Given the description of an element on the screen output the (x, y) to click on. 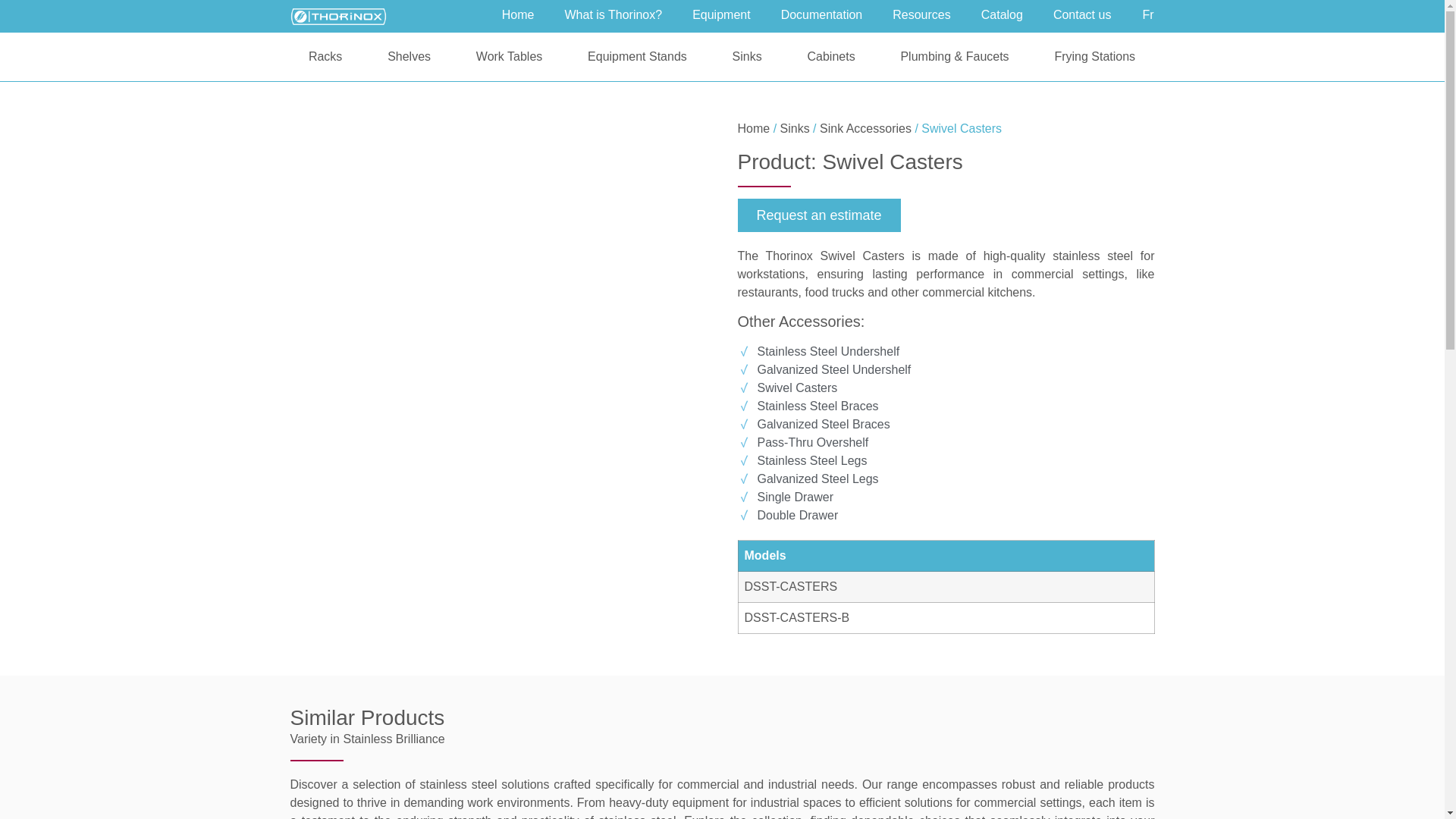
Cabinets (832, 56)
Work Tables (508, 56)
Equipment (721, 15)
Shelves (408, 56)
Sinks (746, 56)
Catalog (1002, 15)
What is Thorinox? (612, 15)
Racks (325, 56)
Contact us (1081, 15)
Equipment Stands (637, 56)
